Given the description of an element on the screen output the (x, y) to click on. 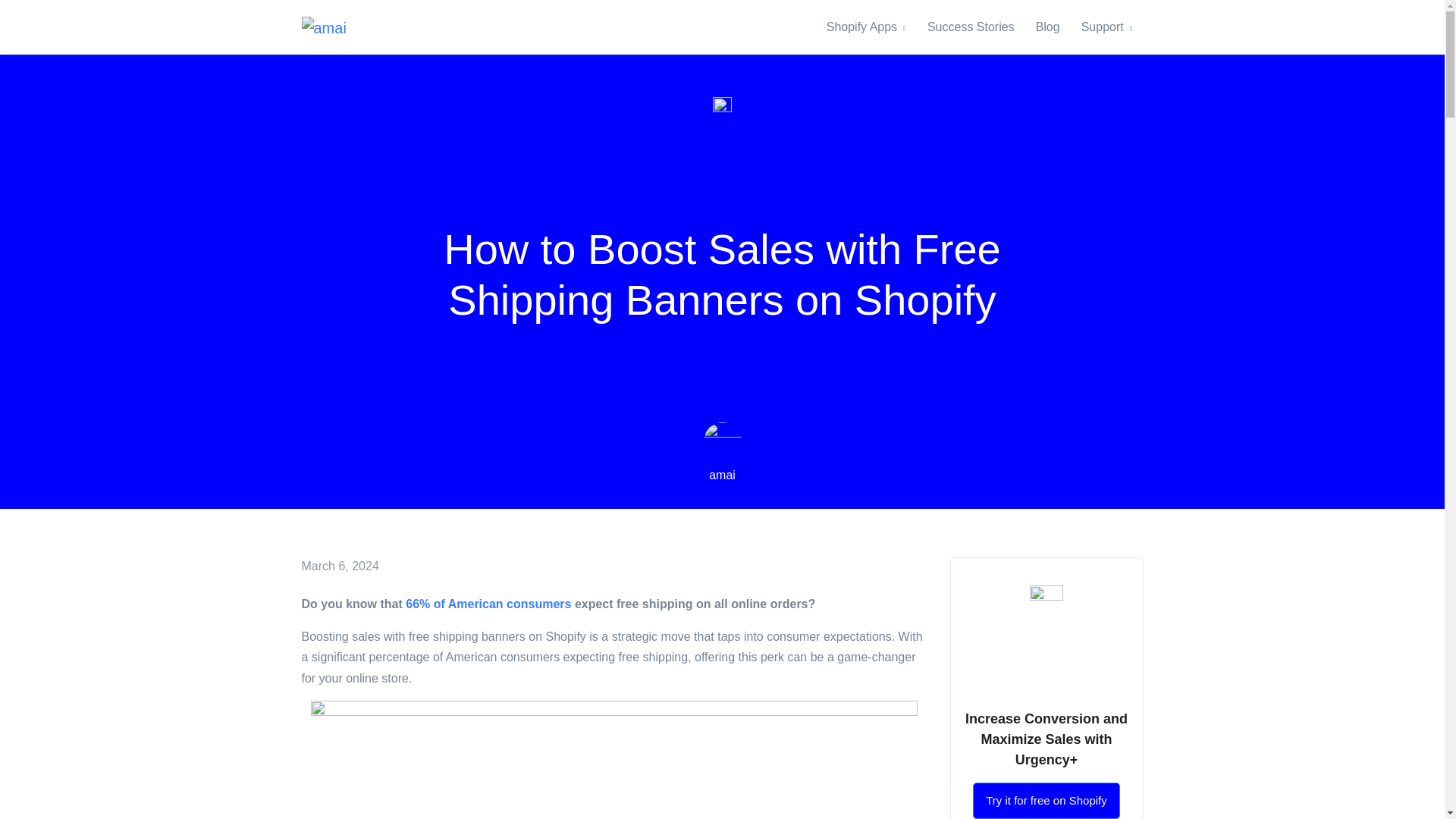
Shopify Apps (872, 27)
Success Stories (971, 27)
Try it for free on Shopify (1045, 800)
Support (1106, 27)
Support (1106, 27)
Success Stories (971, 27)
March 6, 2024 (339, 565)
amai (722, 474)
Shopify Apps (872, 27)
